Given the description of an element on the screen output the (x, y) to click on. 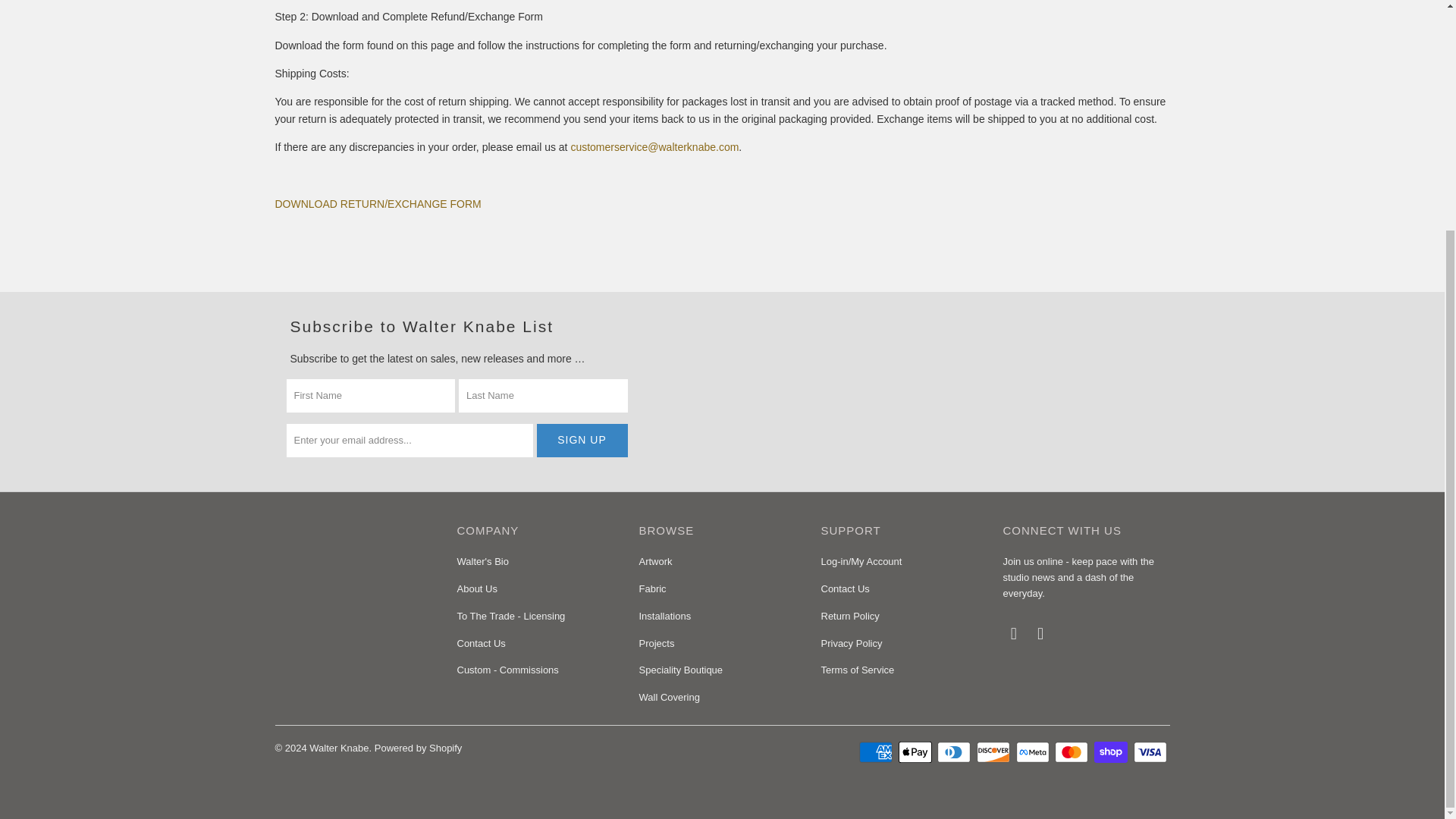
Mastercard (1072, 752)
Walter Knabe on Instagram (1040, 633)
Diners Club (955, 752)
American Express (877, 752)
Walter Knabe on Facebook (1014, 633)
Visa (1150, 752)
Apple Pay (916, 752)
Discover (994, 752)
Meta Pay (1034, 752)
Sign Up (582, 440)
